Given the description of an element on the screen output the (x, y) to click on. 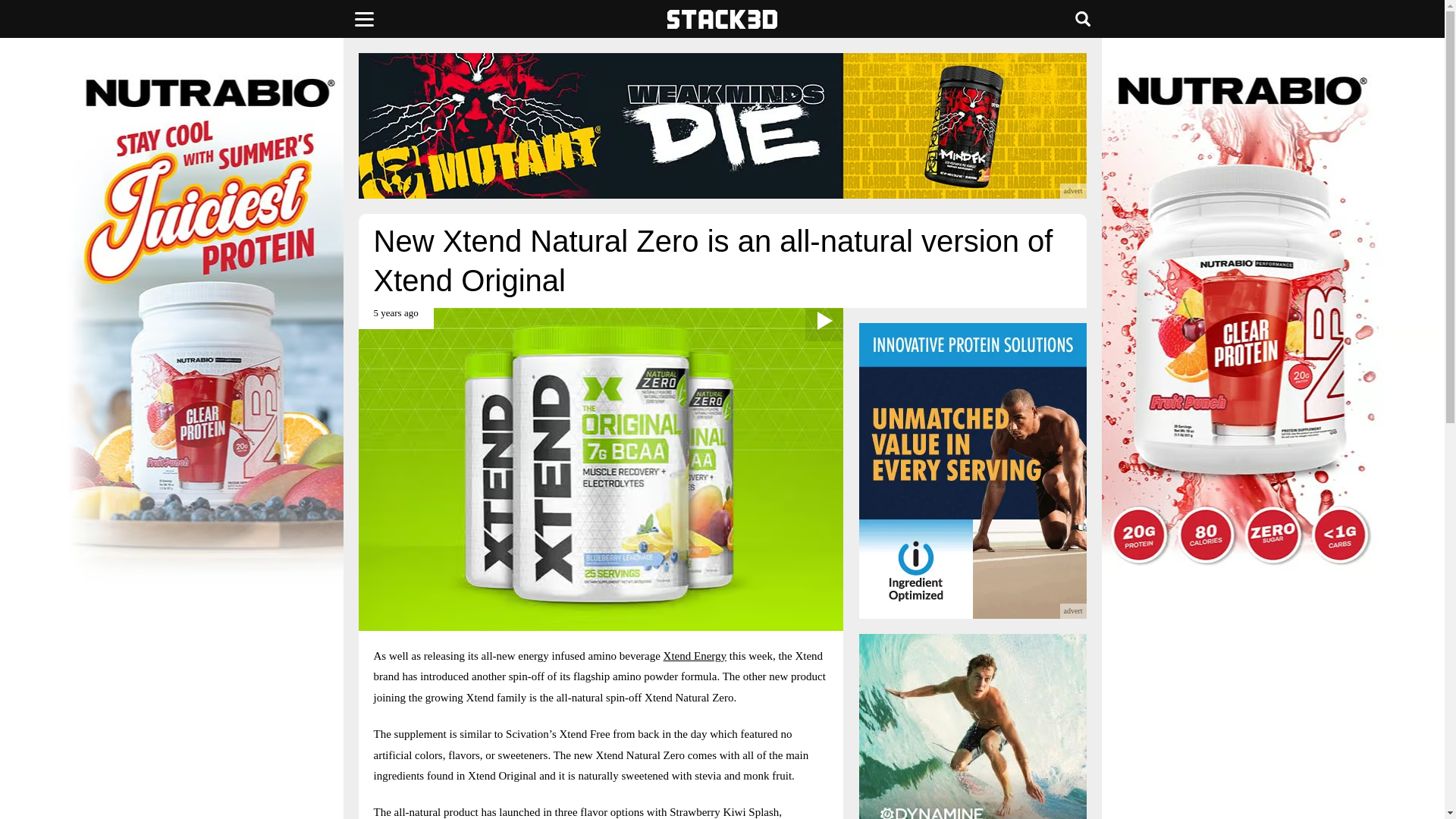
April 4th 2019 (395, 318)
Xtend Energy (694, 655)
